Given the description of an element on the screen output the (x, y) to click on. 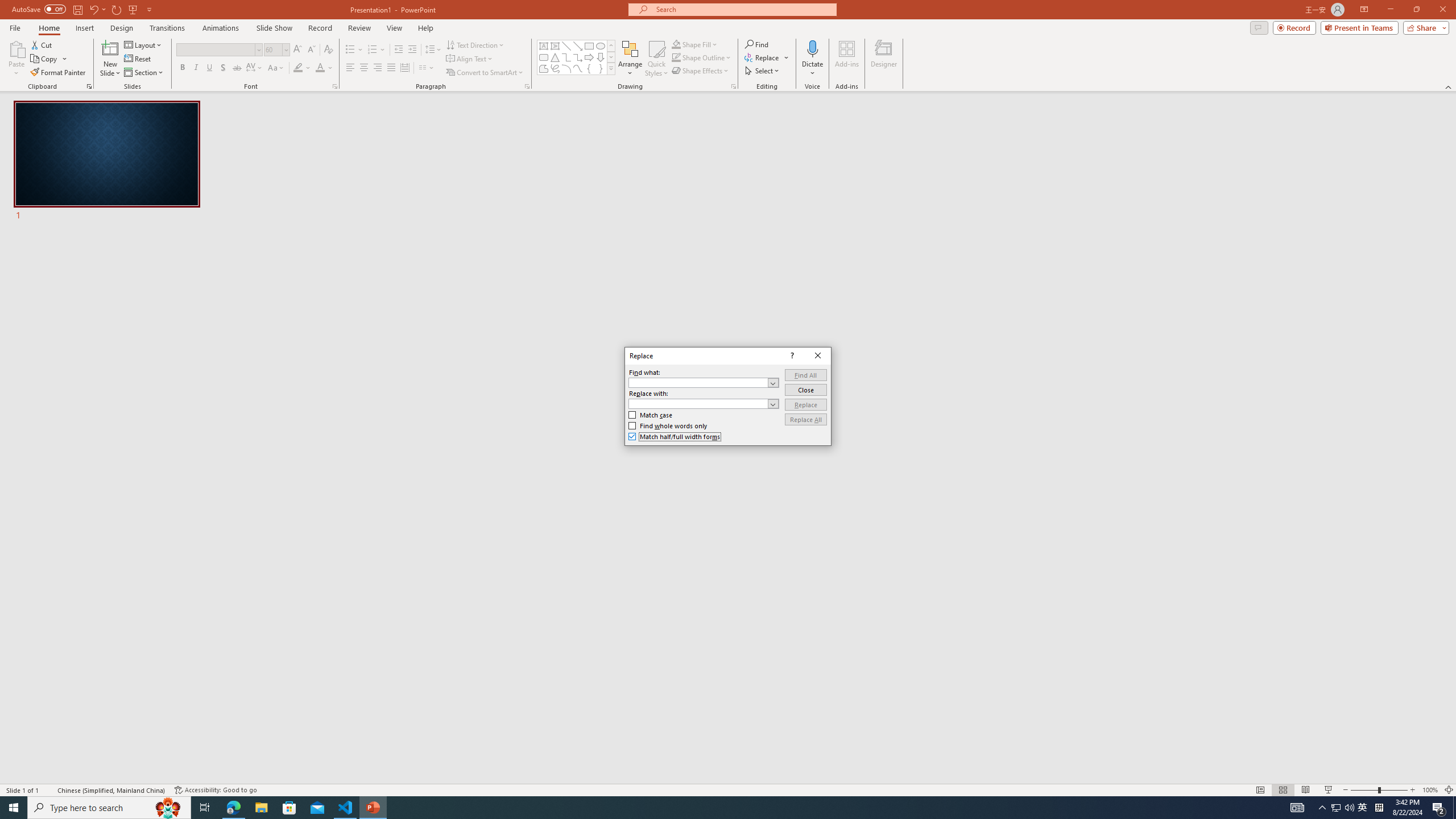
Replace (805, 404)
